Given the description of an element on the screen output the (x, y) to click on. 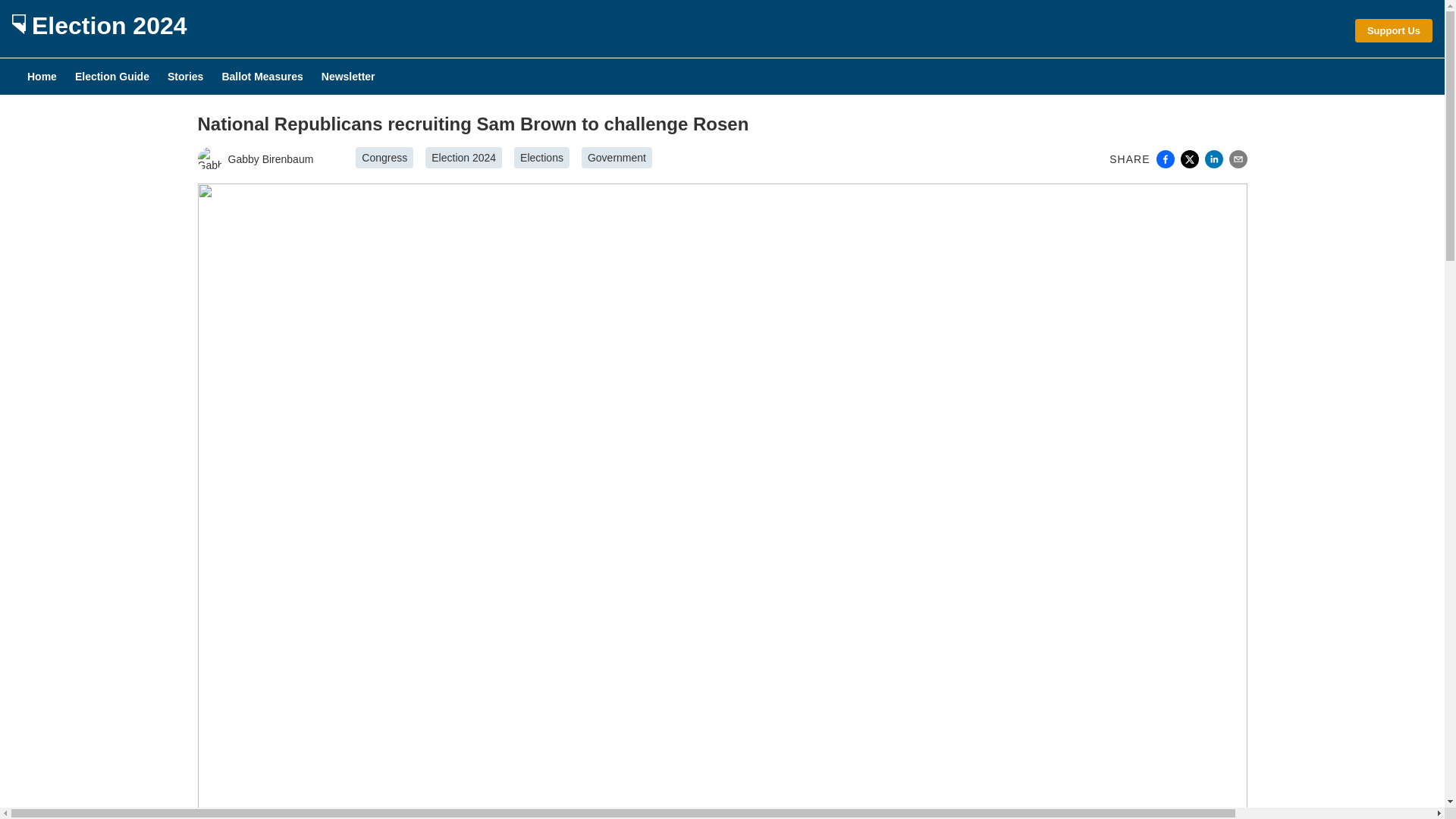
Election Guide (111, 76)
Newsletter (348, 76)
Government (616, 157)
Home (41, 76)
Elections (541, 157)
Election 2024 (463, 157)
Stories (185, 76)
Election 2024 (99, 28)
Ballot Measures (261, 76)
Support Us (1393, 30)
